Given the description of an element on the screen output the (x, y) to click on. 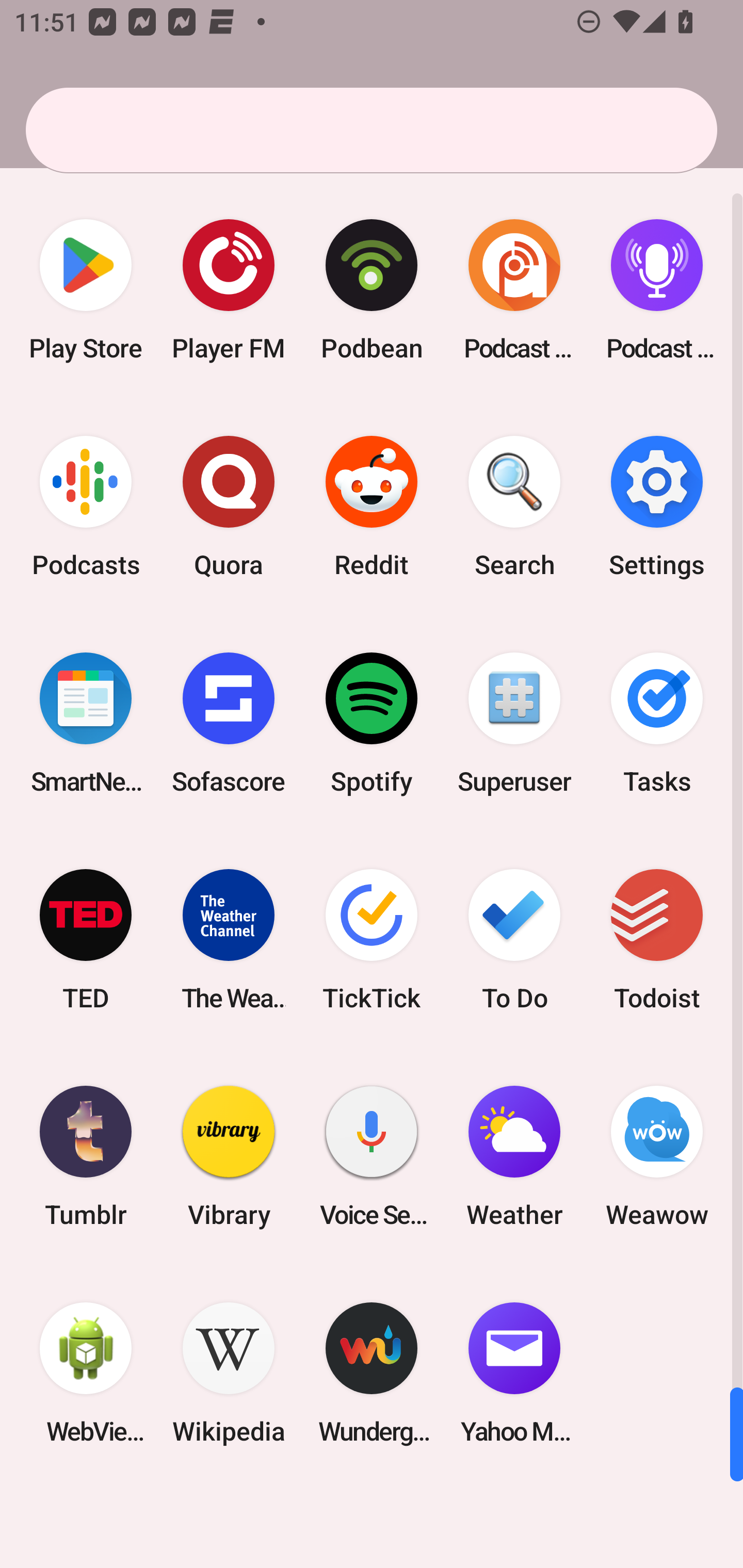
  Search apps (371, 130)
Play Store (85, 289)
Player FM (228, 289)
Podbean (371, 289)
Podcast Addict (514, 289)
Podcast Player (656, 289)
Podcasts (85, 506)
Quora (228, 506)
Reddit (371, 506)
Search (514, 506)
Settings (656, 506)
SmartNews (85, 722)
Sofascore (228, 722)
Spotify (371, 722)
Superuser (514, 722)
Tasks (656, 722)
TED (85, 939)
The Weather Channel (228, 939)
TickTick (371, 939)
To Do (514, 939)
Todoist (656, 939)
Tumblr (85, 1156)
Vibrary (228, 1156)
Voice Search (371, 1156)
Weather (514, 1156)
Weawow (656, 1156)
WebView Browser Tester (85, 1373)
Wikipedia (228, 1373)
Wunderground (371, 1373)
Yahoo Mail (514, 1373)
